Given the description of an element on the screen output the (x, y) to click on. 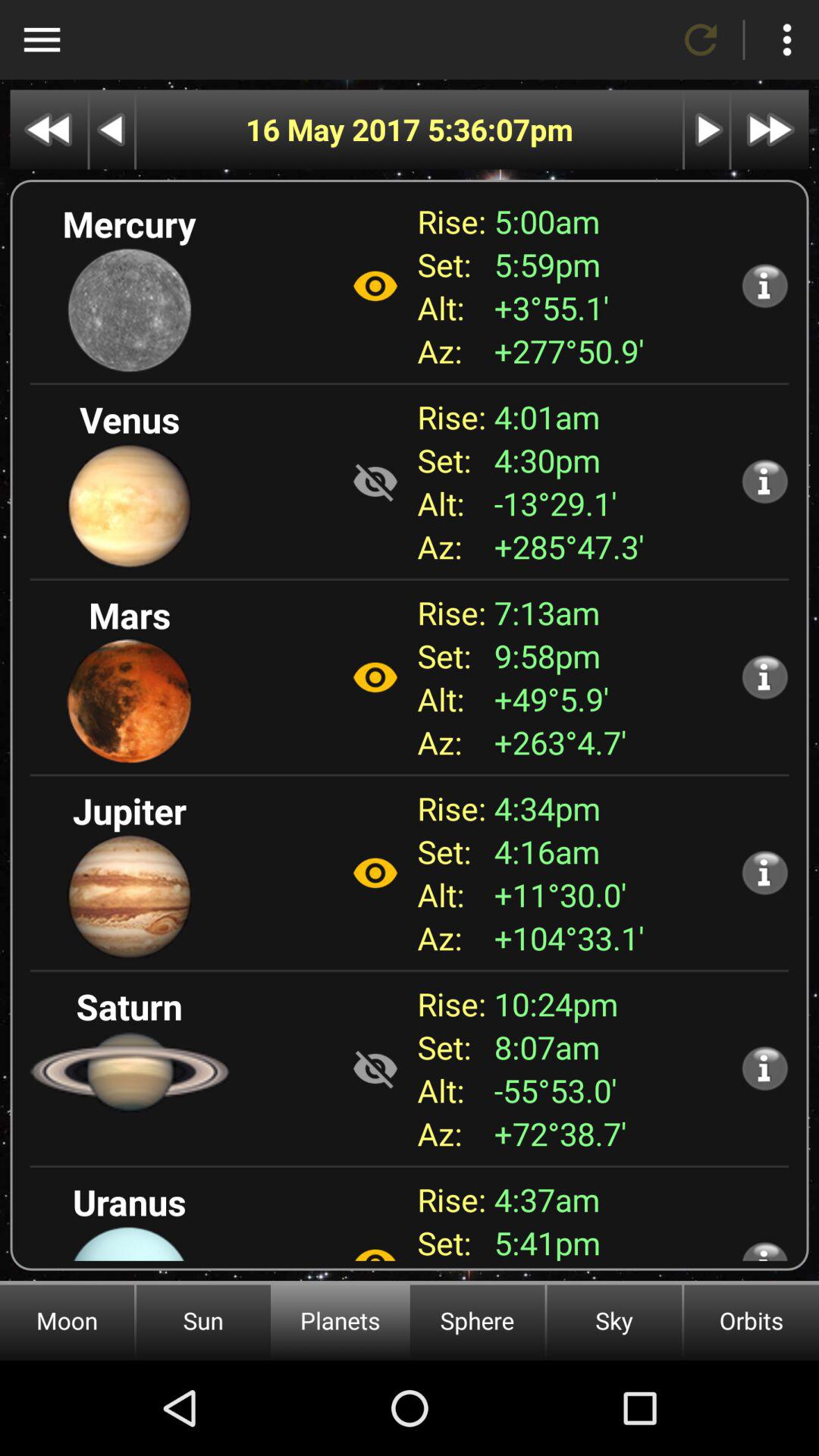
go to previous day (111, 129)
